Given the description of an element on the screen output the (x, y) to click on. 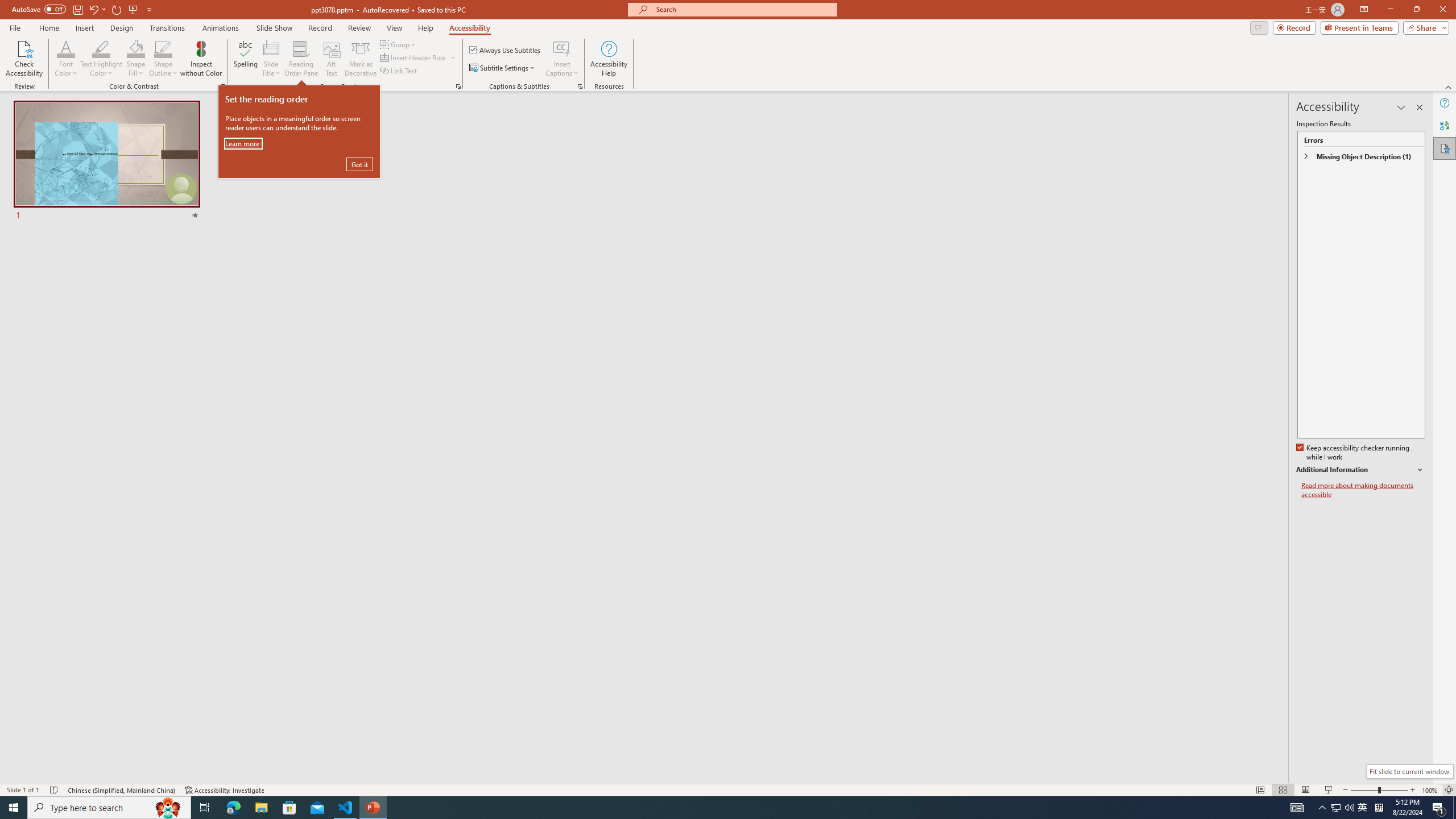
Learn more (243, 143)
Insert Header Row (413, 56)
Fit slide to current window. (1410, 771)
Check Accessibility (23, 58)
Always Use Subtitles (505, 49)
